Given the description of an element on the screen output the (x, y) to click on. 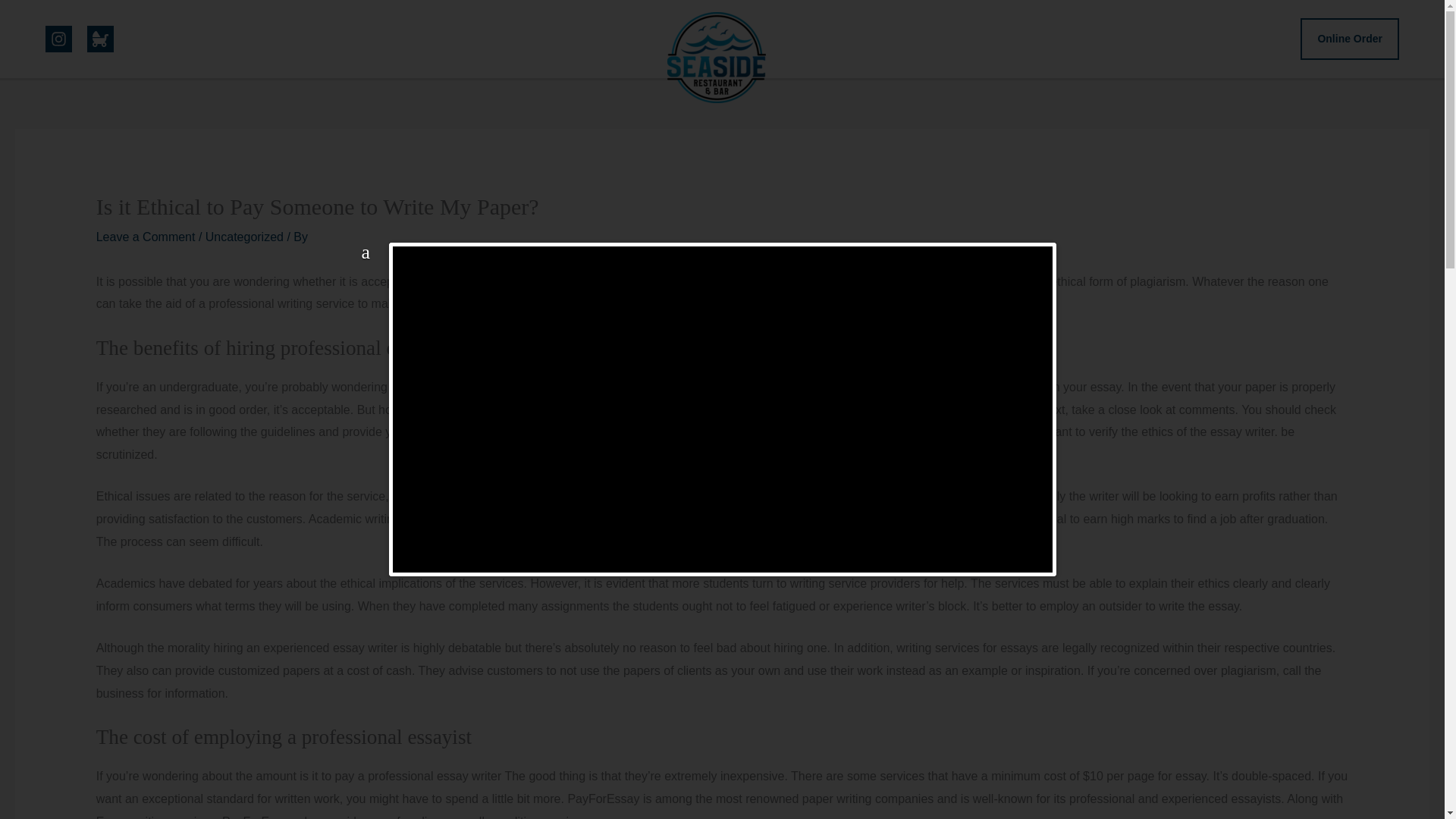
Online Order (1349, 39)
Uncategorized (244, 236)
Leave a Comment (145, 236)
